Given the description of an element on the screen output the (x, y) to click on. 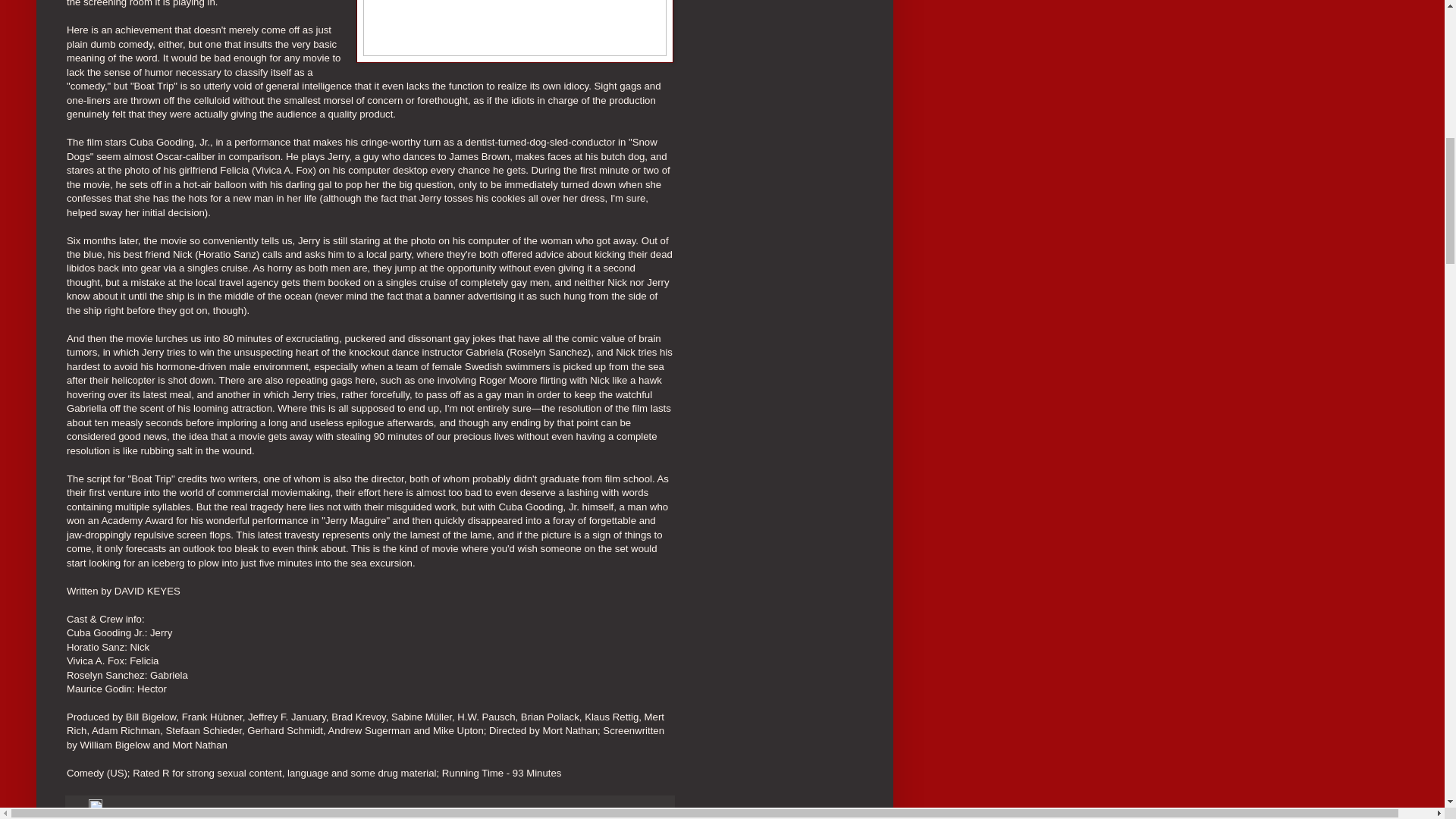
Email Post (80, 809)
Edit Post (94, 809)
